Given the description of an element on the screen output the (x, y) to click on. 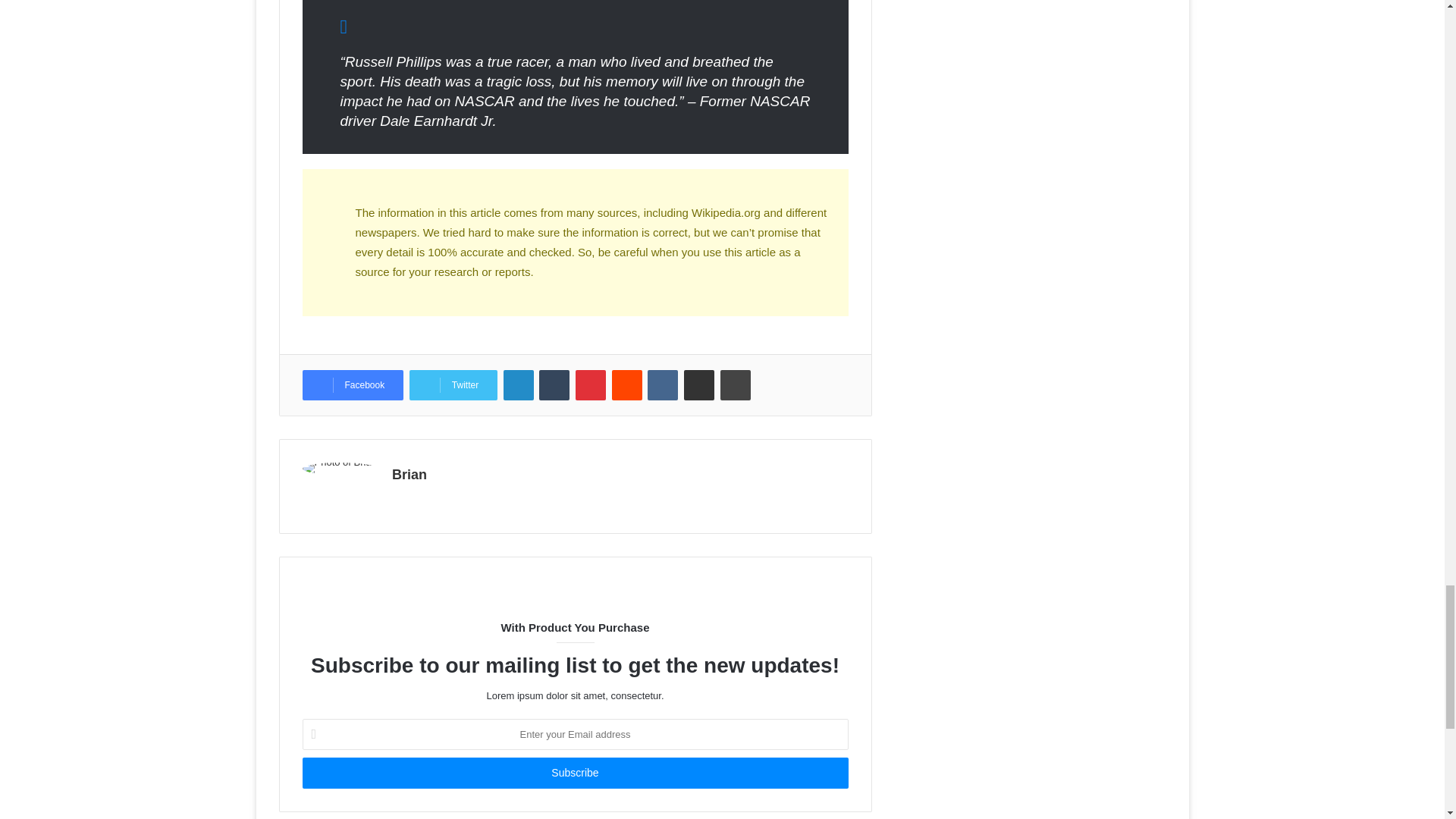
Tumblr (553, 385)
LinkedIn (518, 385)
Twitter (453, 385)
Subscribe (574, 772)
Reddit (626, 385)
Pinterest (590, 385)
Facebook (352, 385)
